Given the description of an element on the screen output the (x, y) to click on. 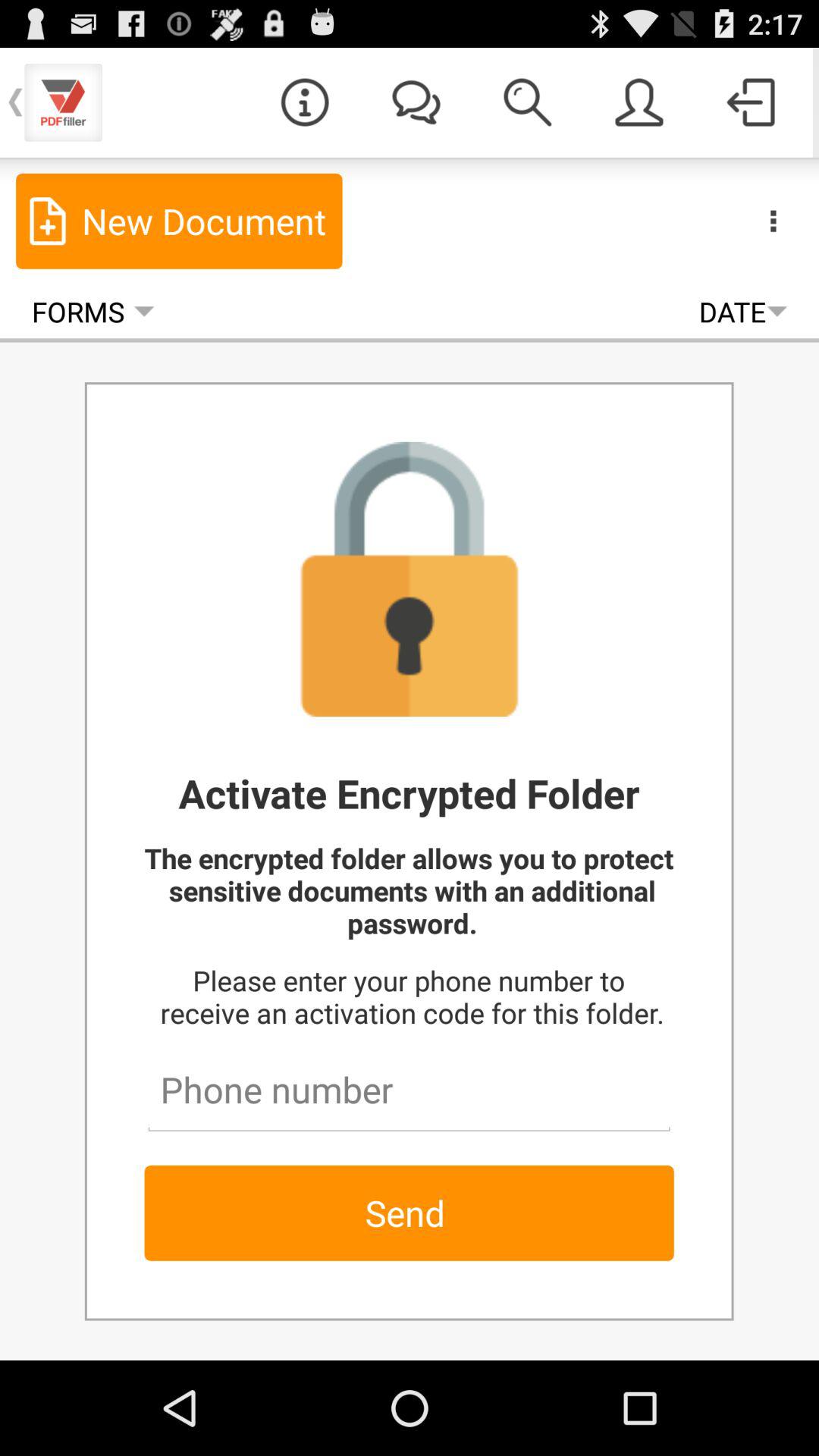
opens more options (773, 220)
